Given the description of an element on the screen output the (x, y) to click on. 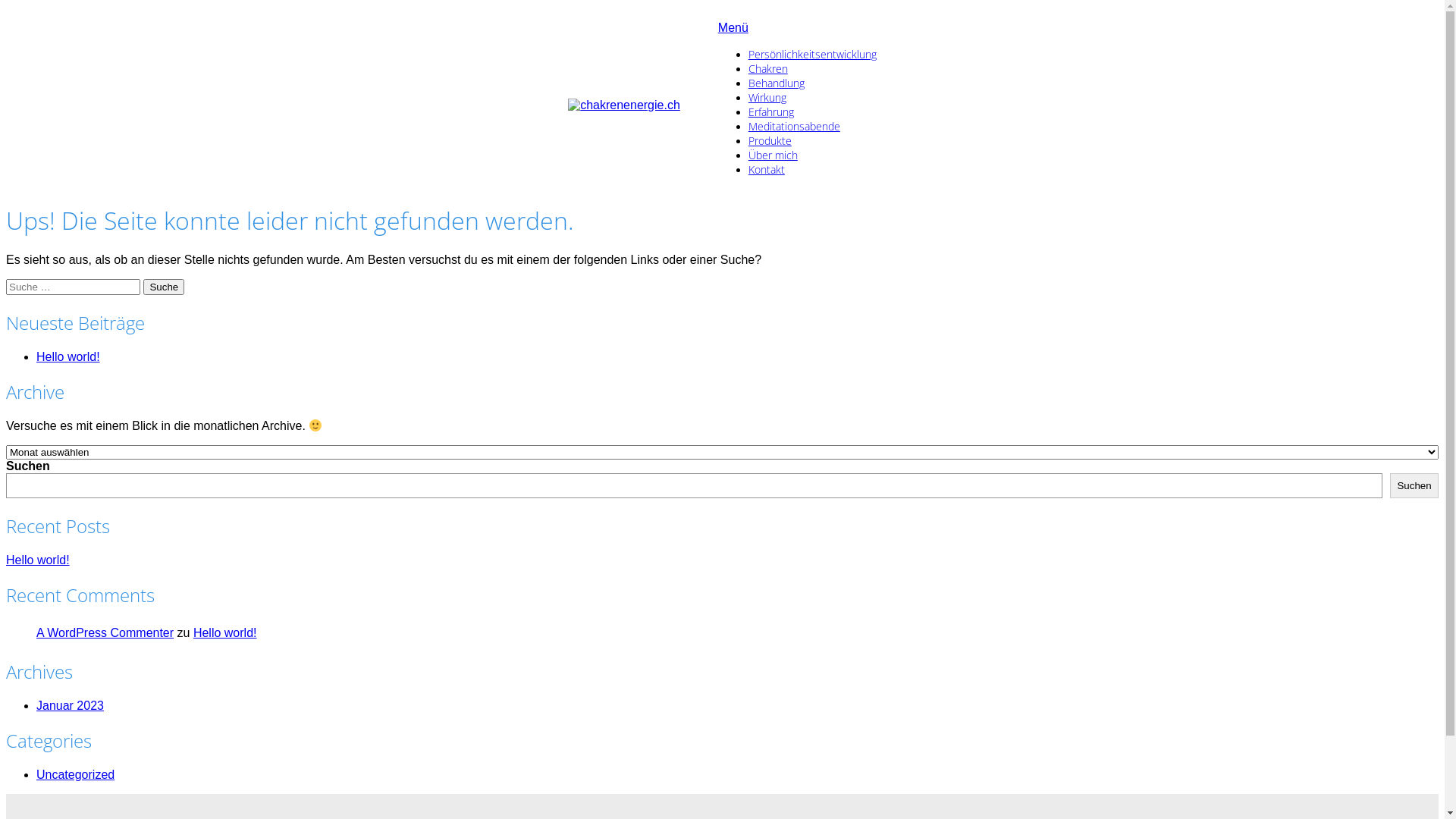
Hello world! Element type: text (225, 632)
Erfahrung Element type: text (770, 111)
Behandlung Element type: text (776, 82)
Wirkung Element type: text (767, 97)
A WordPress Commenter Element type: text (104, 632)
Zum Inhalt springen Element type: text (5, 5)
Januar 2023 Element type: text (69, 705)
Suchen Element type: text (1414, 485)
Suche Element type: text (163, 286)
Produkte Element type: text (769, 140)
Uncategorized Element type: text (75, 774)
Chakren Element type: text (767, 68)
Kontakt Element type: text (766, 169)
Hello world! Element type: text (68, 356)
Meditationsabende Element type: text (794, 126)
Hello world! Element type: text (37, 559)
